Given the description of an element on the screen output the (x, y) to click on. 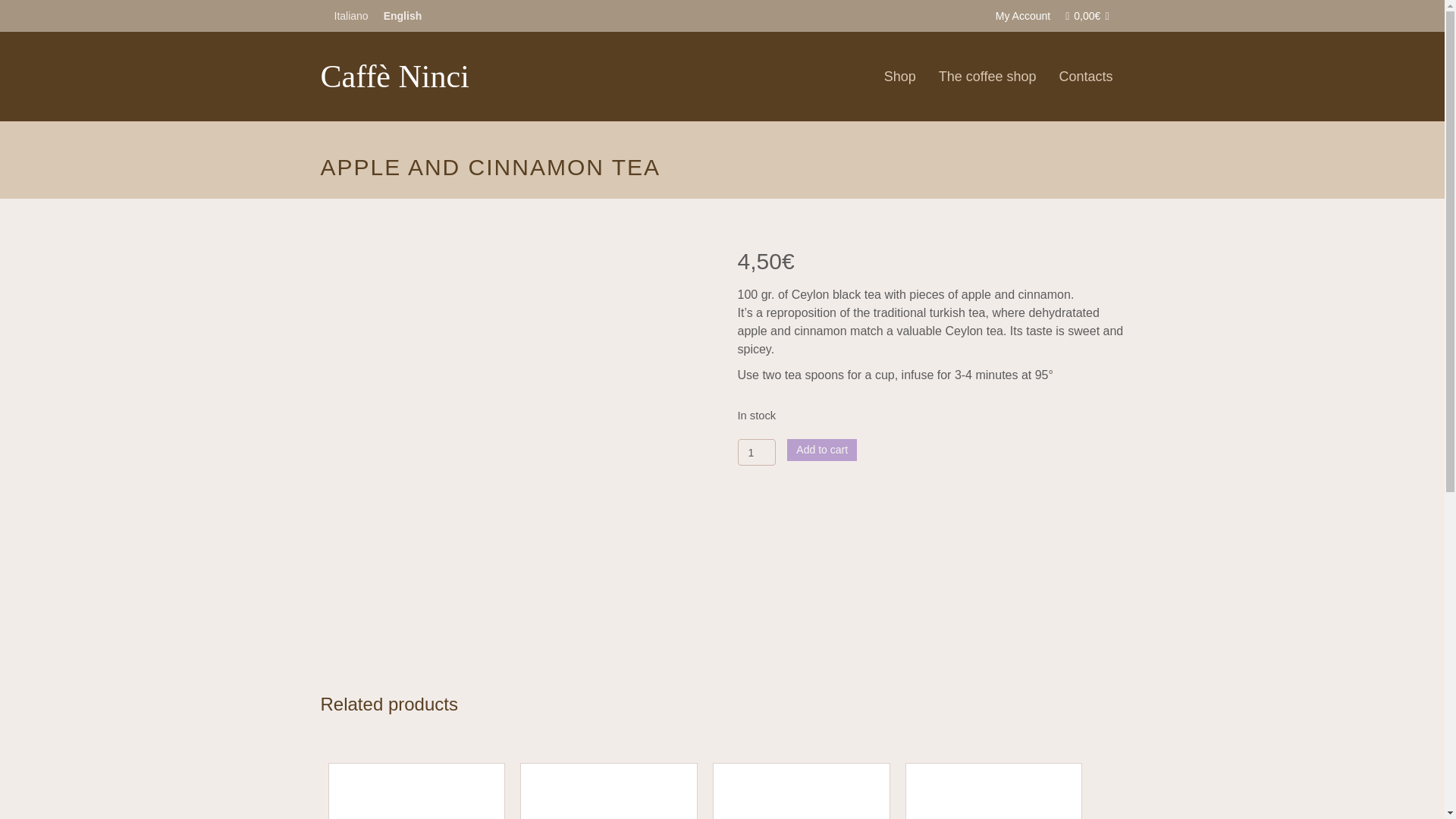
English (402, 15)
Contacts (1085, 76)
Italiano (350, 15)
My Account (1022, 15)
The coffee shop (987, 76)
1 (756, 452)
Shop (899, 76)
